Given the description of an element on the screen output the (x, y) to click on. 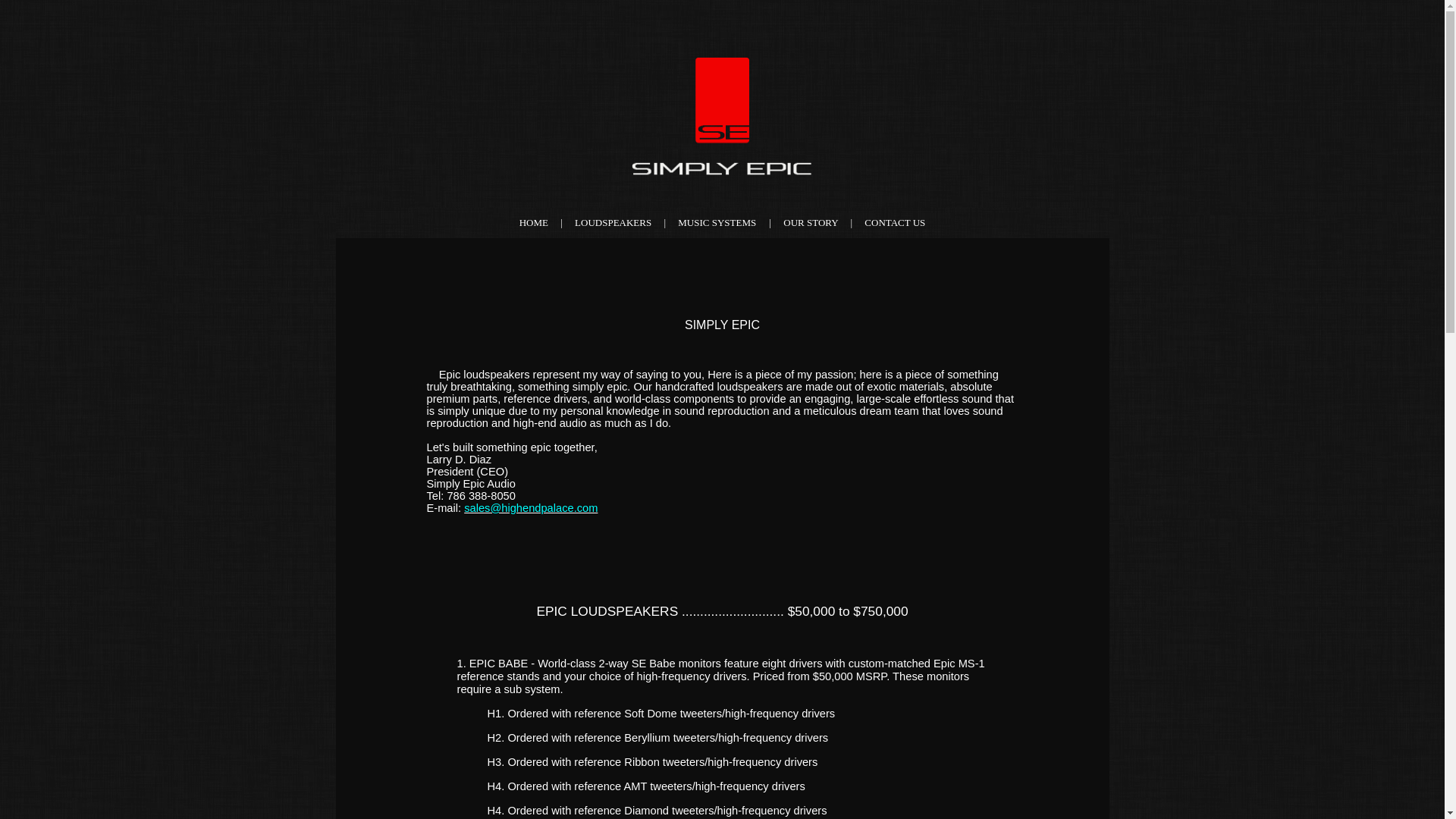
LOUDSPEAKERS Element type: text (612, 222)
HOME Element type: text (533, 222)
OUR STORY Element type: text (810, 222)
CONTACT US Element type: text (894, 222)
sales@highendpalace.com Element type: text (530, 507)
MUSIC SYSTEMS Element type: text (716, 222)
